Given the description of an element on the screen output the (x, y) to click on. 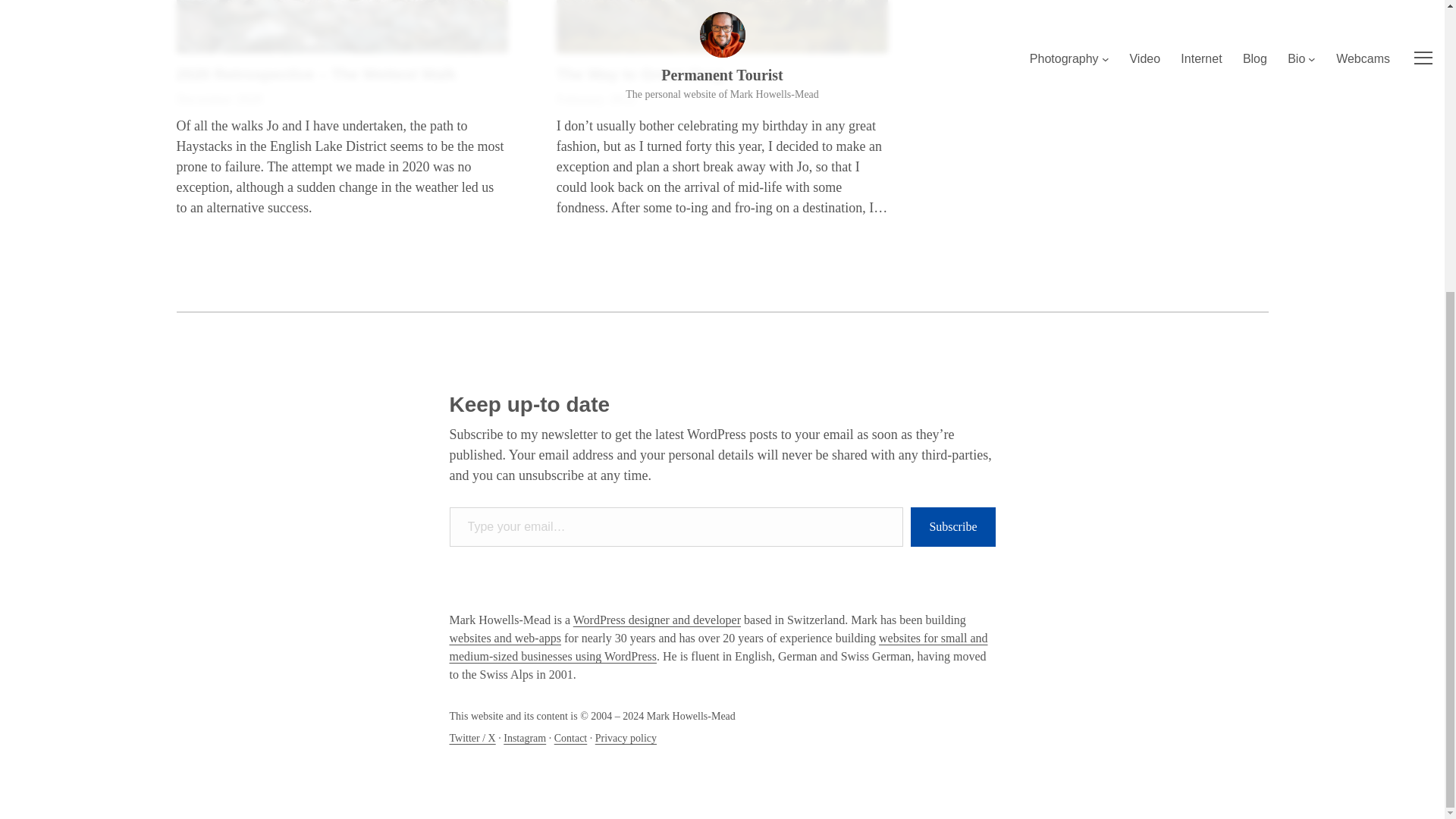
WordPress designer and developer (657, 619)
Privacy policy (625, 737)
Contact (571, 737)
websites and web-apps (504, 637)
sayhello.ch (657, 619)
Please fill in this field. (675, 526)
sayhello.ch (504, 637)
Instagram (524, 737)
Subscribe (952, 526)
The Way to Green Crag (639, 74)
Article: The Way to Green Crag (722, 26)
sayhello.ch (717, 646)
